Given the description of an element on the screen output the (x, y) to click on. 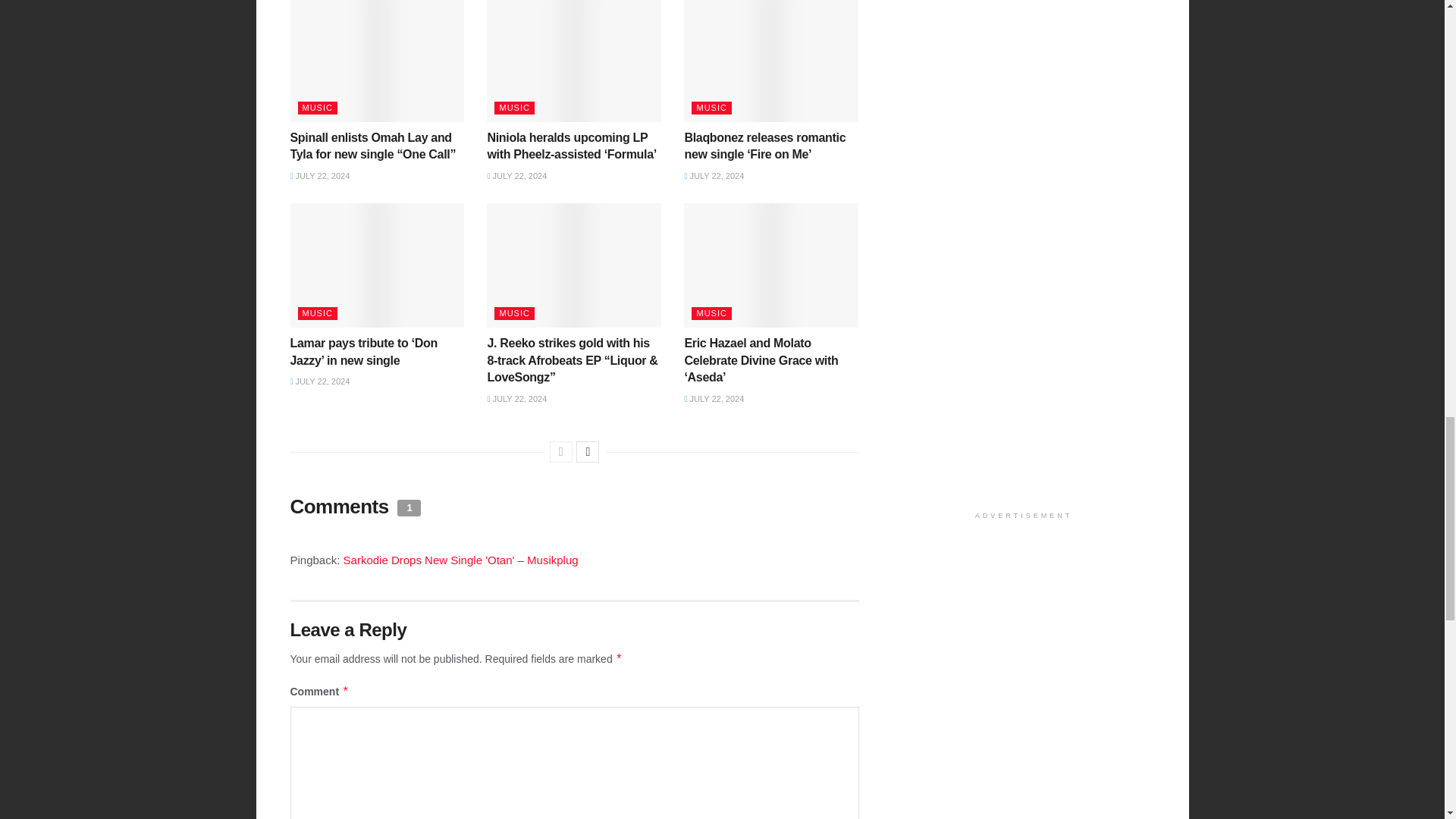
Next (587, 451)
Previous (561, 451)
